Given the description of an element on the screen output the (x, y) to click on. 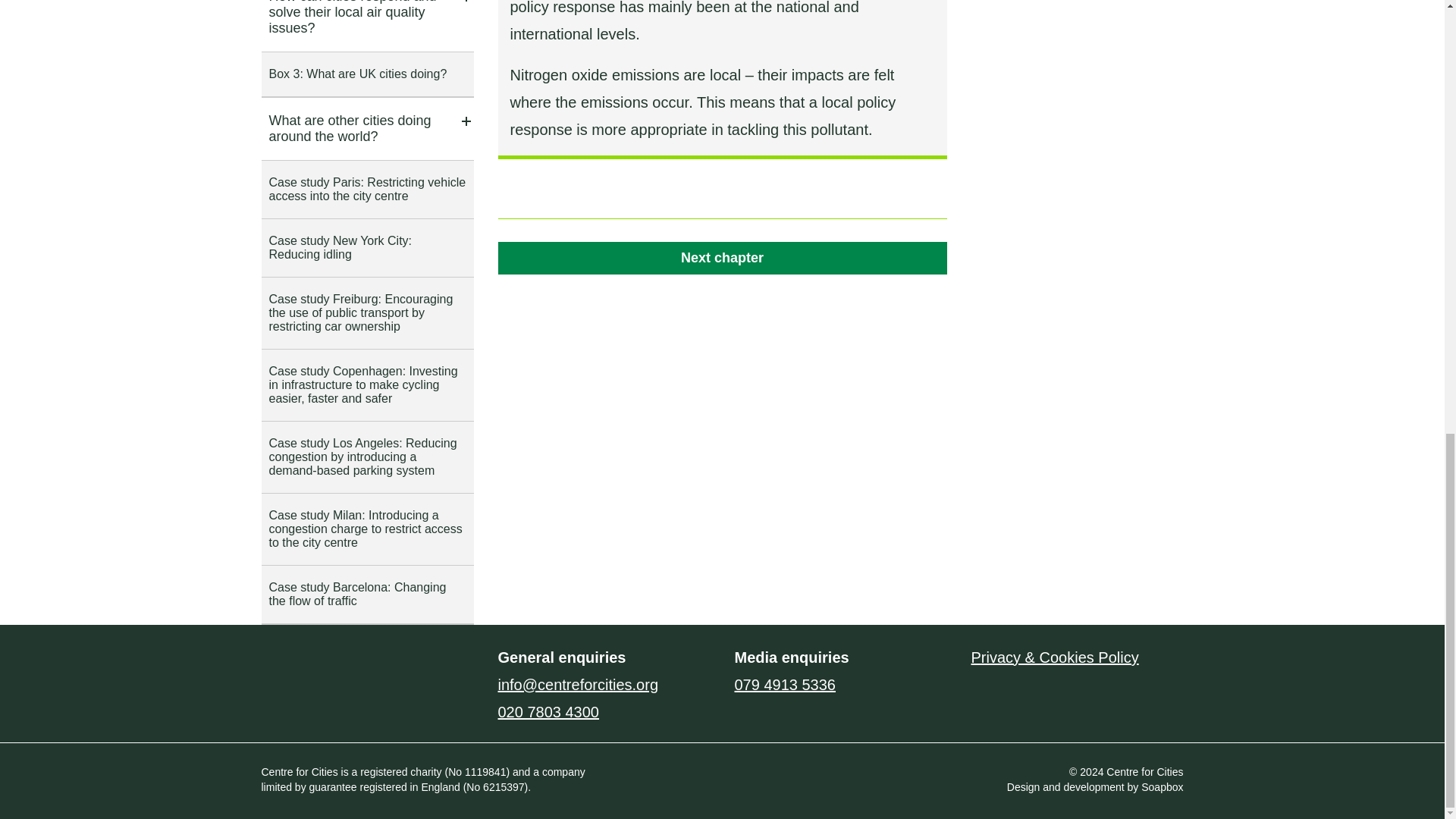
Go to our LinkedIn profile (309, 663)
Go to our Twitter profile (272, 664)
Go to  (721, 257)
Go to our podcast platform (388, 663)
Go to our Youtube channel (348, 664)
